Given the description of an element on the screen output the (x, y) to click on. 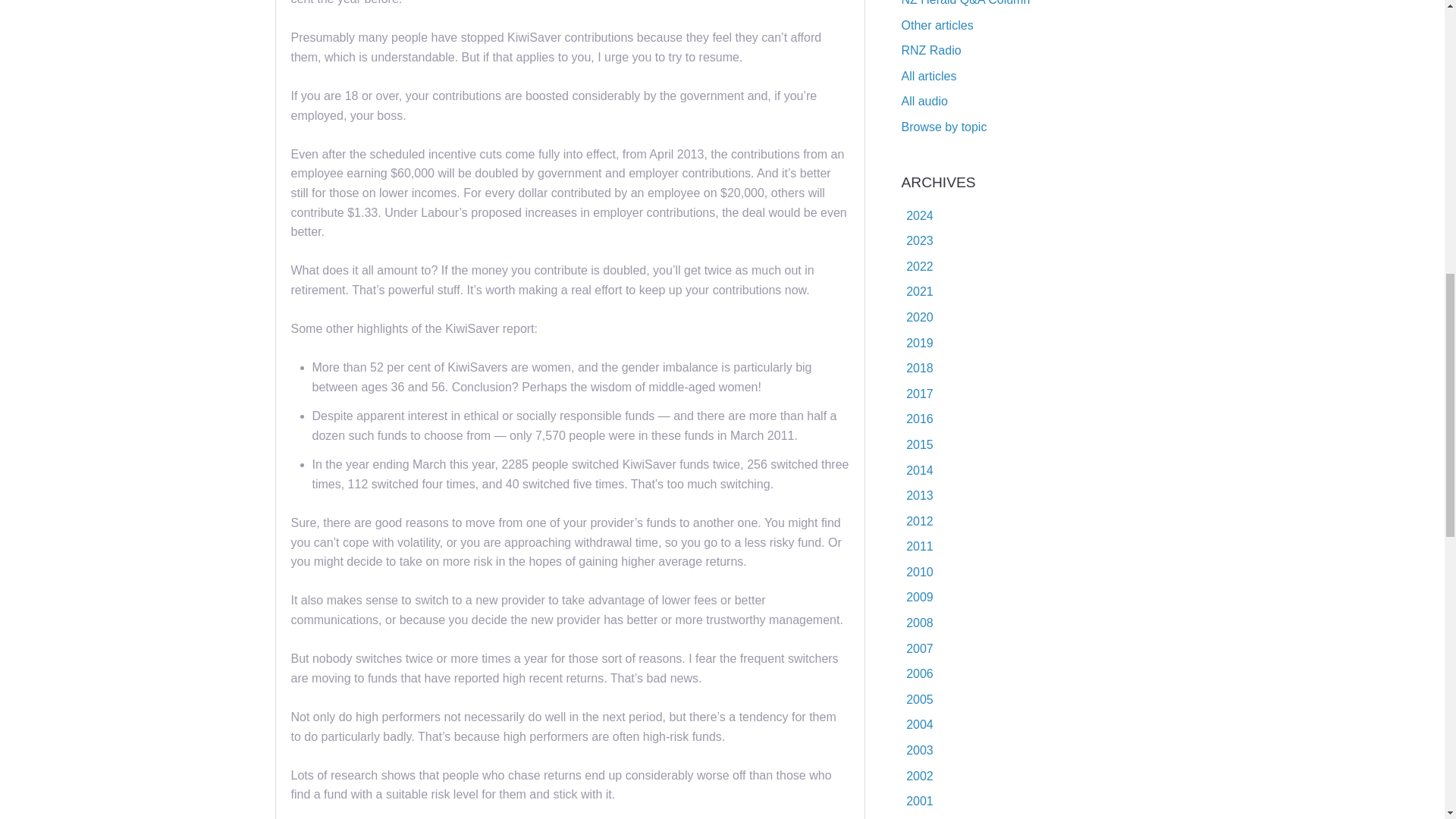
Other articles (936, 24)
2024 (919, 215)
Browse by topic (944, 126)
RNZ Radio (930, 50)
All articles (928, 75)
All audio (924, 101)
click to expand (917, 215)
click to expand (917, 240)
